Given the description of an element on the screen output the (x, y) to click on. 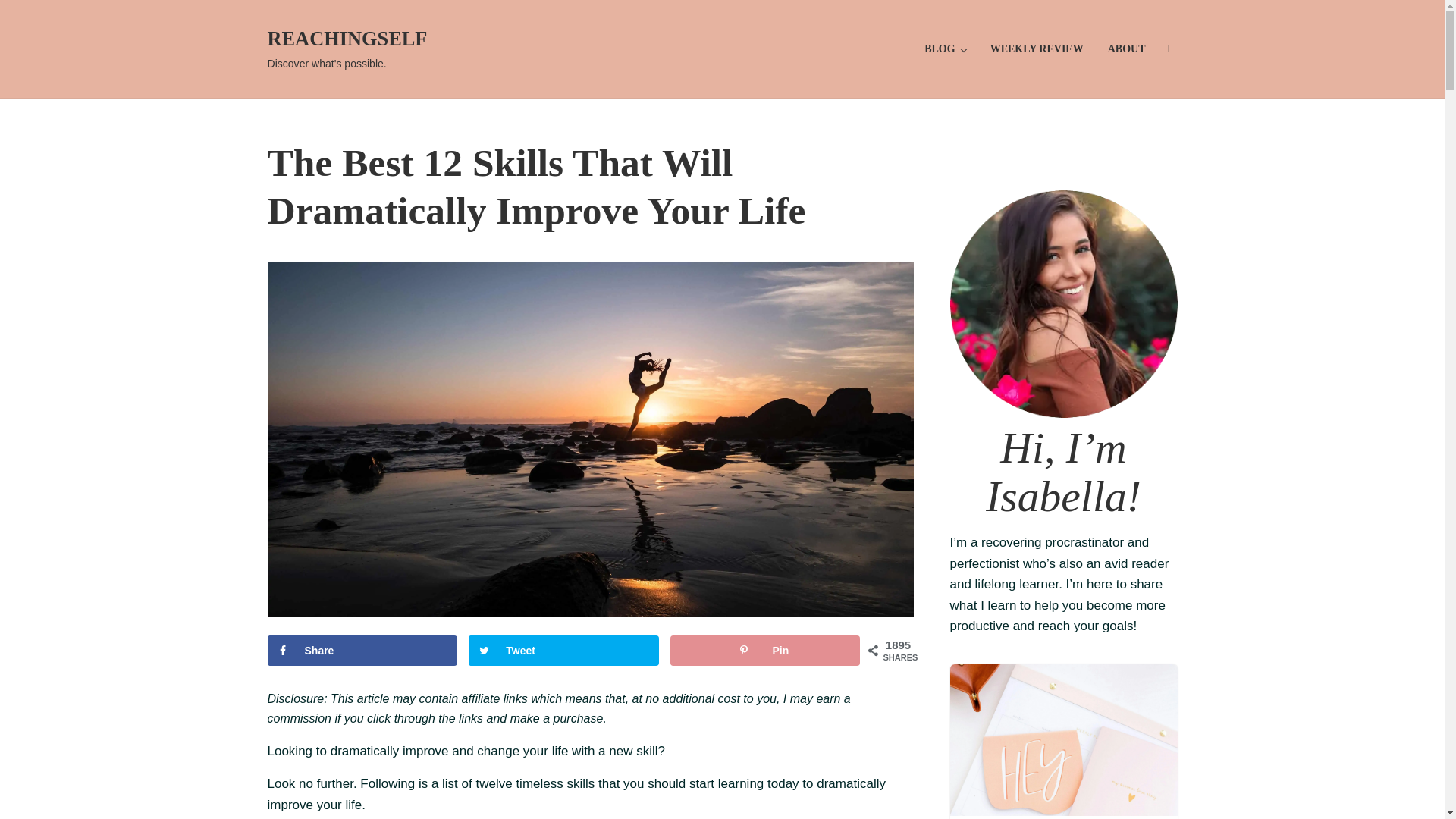
Share (361, 650)
REACHINGSELF (346, 38)
Save to Pinterest (764, 650)
Share on Facebook (361, 650)
WEEKLY REVIEW (1037, 48)
Share on Twitter (563, 650)
BLOG (944, 48)
Pin (764, 650)
Tweet (563, 650)
ABOUT (1126, 48)
